Given the description of an element on the screen output the (x, y) to click on. 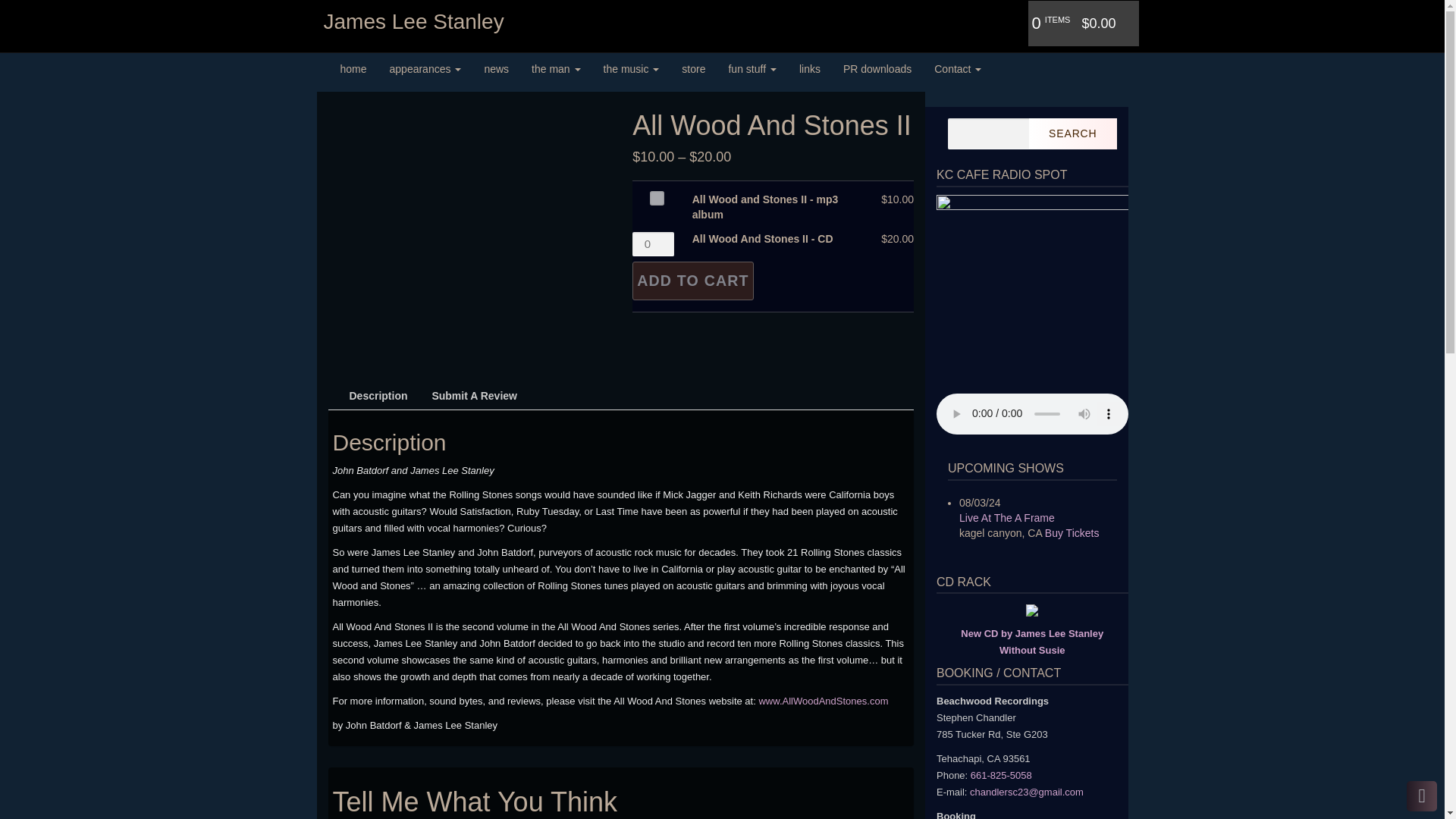
Submit A Review (473, 396)
links (809, 68)
home (353, 68)
the man (555, 68)
James Lee Stanley (410, 21)
store (692, 68)
Contact (957, 68)
1 (654, 194)
appearances (425, 68)
appearances (425, 68)
the music (631, 68)
www.AllWoodAndStones.com (823, 700)
Search (1072, 133)
news (495, 68)
ADD TO CART (692, 280)
